Given the description of an element on the screen output the (x, y) to click on. 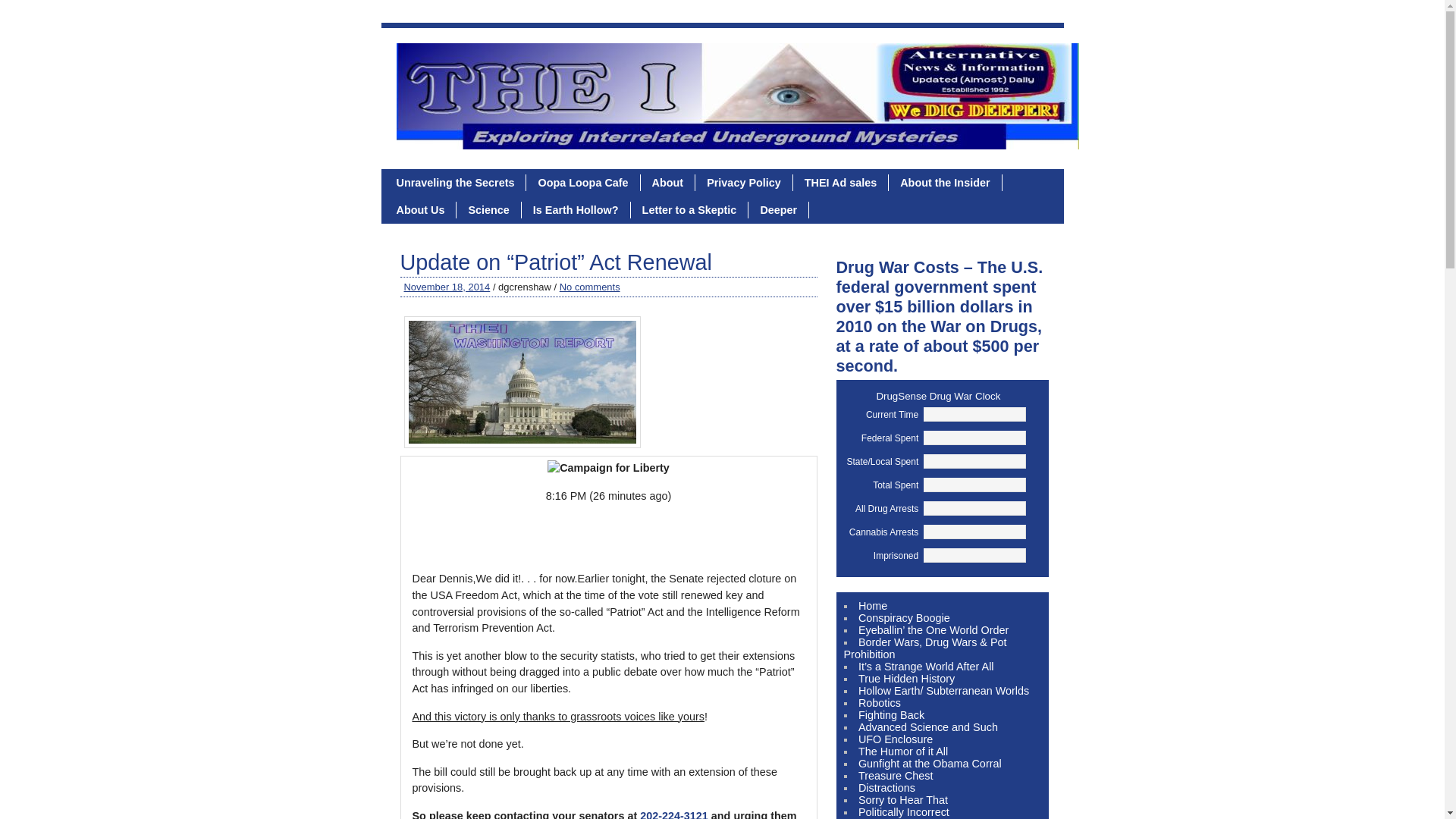
No comments (589, 286)
Distractions (887, 787)
DrugSense Drug War Clock (938, 396)
UFO Enclosure (896, 739)
Advanced Science and Such (928, 727)
Home (872, 605)
About Us (421, 209)
Unraveling the Secrets (456, 182)
Science (489, 209)
The Humor of it All (903, 751)
True Hidden History (907, 678)
About the Insider (944, 182)
Gunfight at the Obama Corral (930, 763)
Privacy Policy (744, 182)
Oopa Loopa Cafe (582, 182)
